Given the description of an element on the screen output the (x, y) to click on. 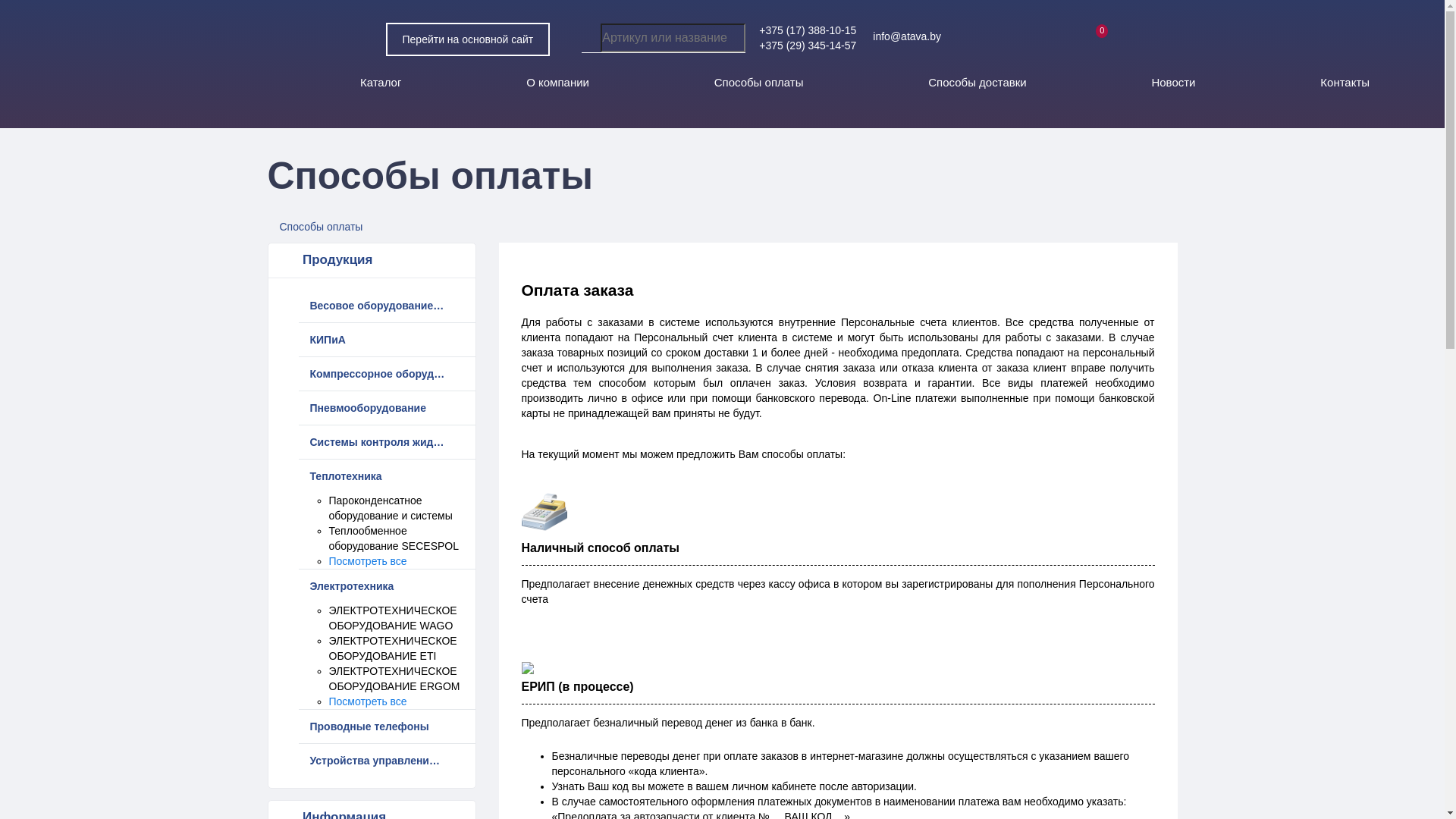
info@atava.by Element type: text (916, 36)
0 Element type: text (1091, 37)
+375 (17) 388-10-15 Element type: text (807, 30)
+375 (29) 345-14-57 Element type: text (807, 45)
